Given the description of an element on the screen output the (x, y) to click on. 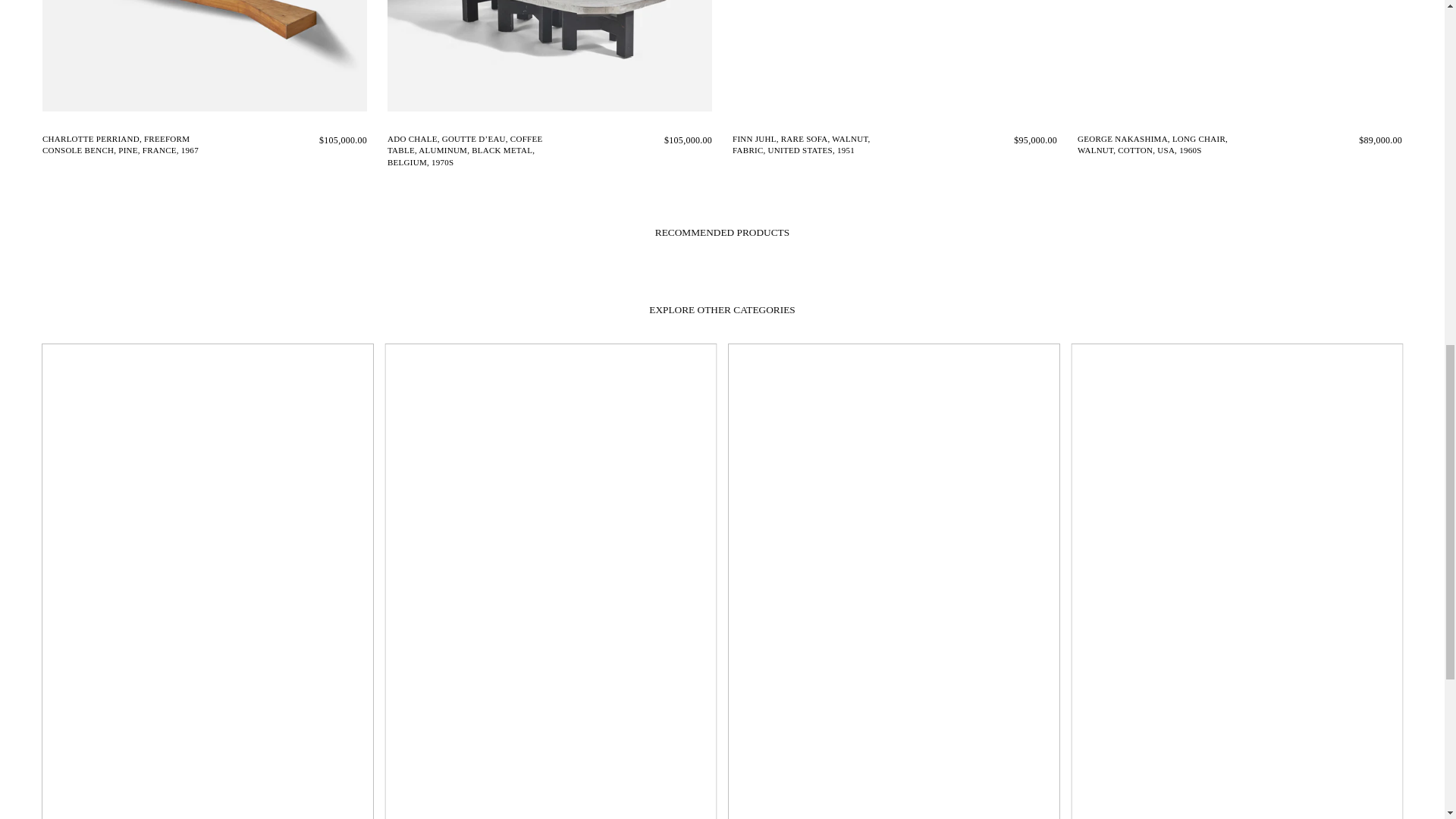
Finn Juhl, Rare Sofa, Walnut, Fabric, United States, 1951 (894, 61)
George Nakashima, Long Chair, Walnut, Cotton, USA, 1960s (1239, 61)
